Given the description of an element on the screen output the (x, y) to click on. 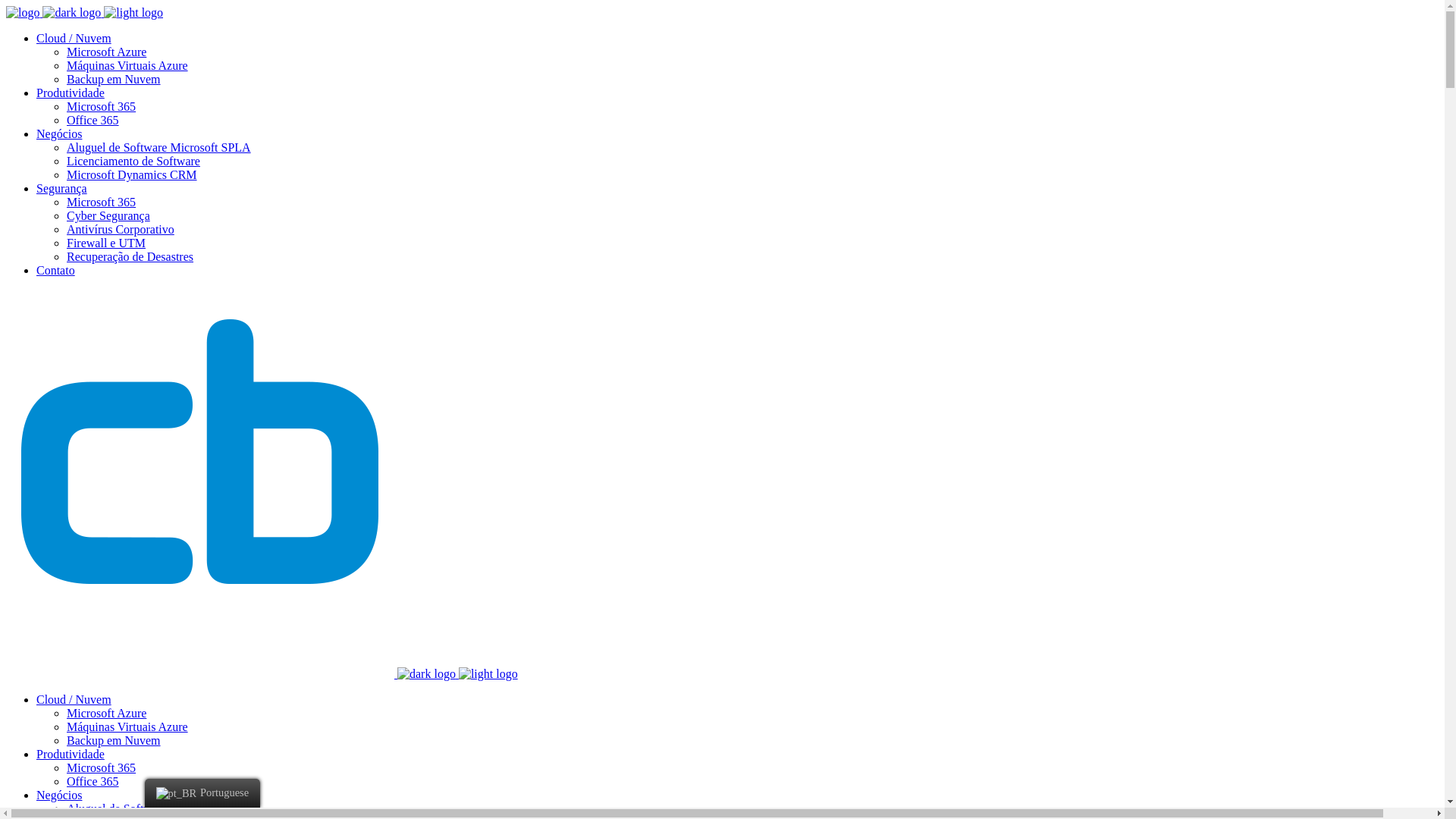
Produtividade Element type: text (70, 753)
Microsoft 365 Element type: text (100, 767)
Microsoft Azure Element type: text (106, 712)
Contato Element type: text (55, 269)
Microsoft Azure Element type: text (106, 51)
Microsoft 365 Element type: text (100, 106)
Microsoft Dynamics CRM Element type: text (131, 174)
Office 365 Element type: text (92, 781)
Aluguel de Software Microsoft SPLA Element type: text (158, 147)
Backup em Nuvem Element type: text (113, 78)
Licenciamento de Software Element type: text (133, 160)
Produtividade Element type: text (70, 92)
Aluguel de Software Microsoft SPLA Element type: text (158, 808)
Microsoft 365 Element type: text (100, 201)
Cloud / Nuvem Element type: text (73, 699)
Portuguese Element type: text (202, 792)
Backup em Nuvem Element type: text (113, 740)
Portuguese Element type: hover (176, 793)
Office 365 Element type: text (92, 119)
Cloud / Nuvem Element type: text (73, 37)
Firewall e UTM Element type: text (105, 242)
